Given the description of an element on the screen output the (x, y) to click on. 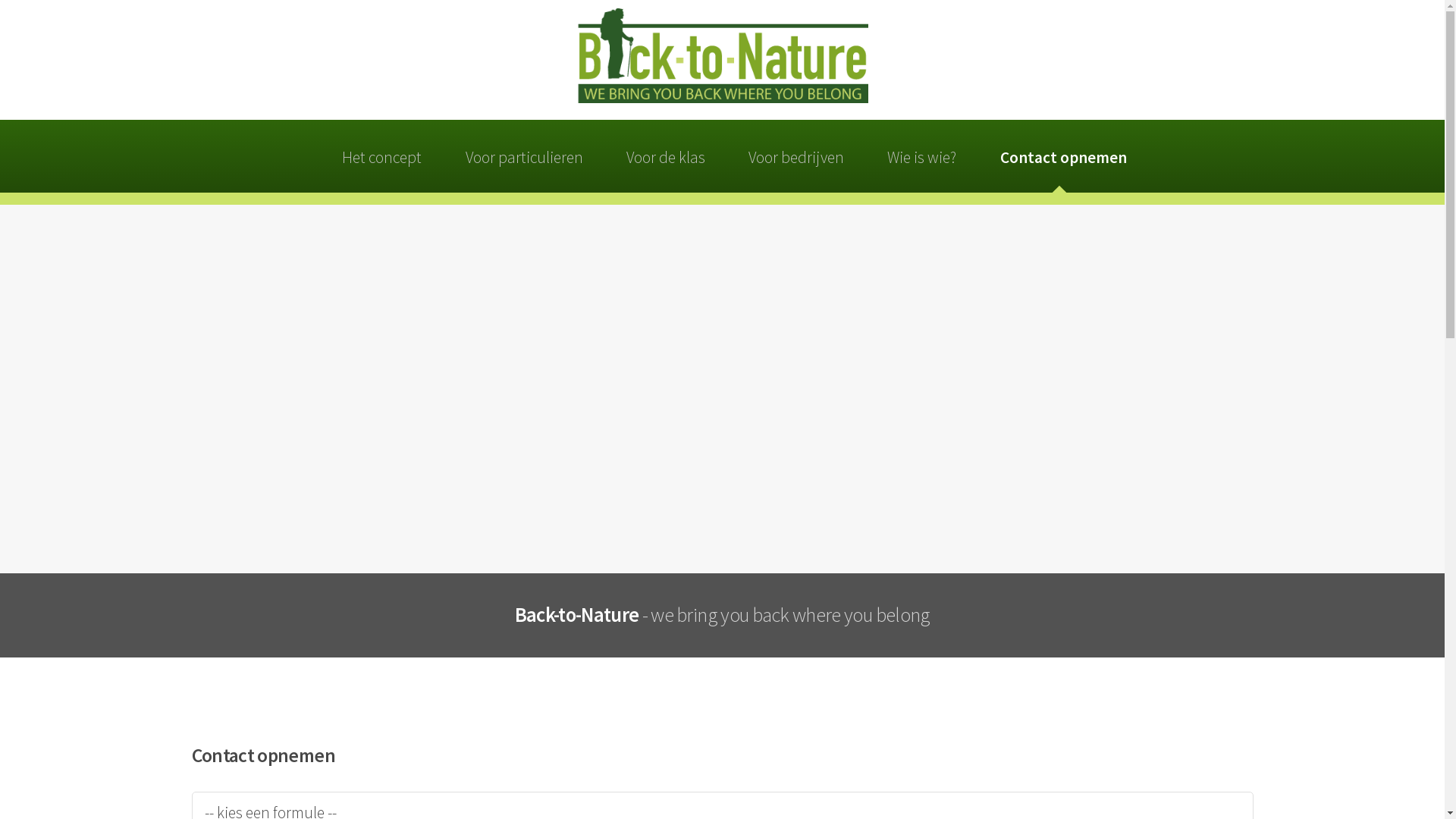
Het concept Element type: text (381, 155)
Wie is wie? Element type: text (921, 155)
Voor bedrijven Element type: text (795, 155)
Voor de klas Element type: text (665, 155)
Contact opnemen Element type: text (1062, 155)
Voor particulieren Element type: text (523, 155)
